Given the description of an element on the screen output the (x, y) to click on. 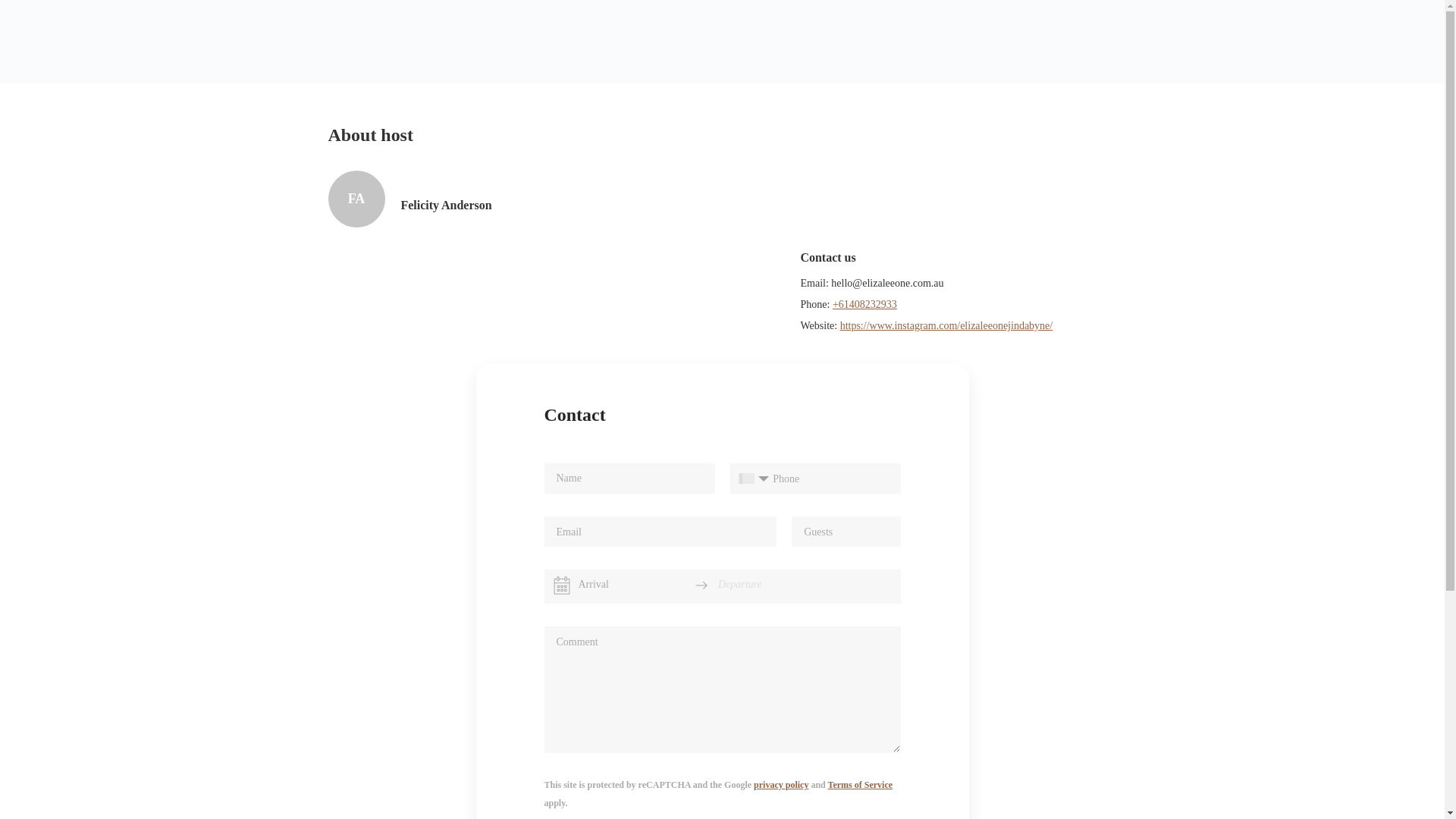
https://www.instagram.com/elizaleeonejindabyne/ Element type: text (946, 325)
privacy policy Element type: text (780, 784)
Terms of Service Element type: text (860, 784)
+61408232933 Element type: text (864, 304)
